Given the description of an element on the screen output the (x, y) to click on. 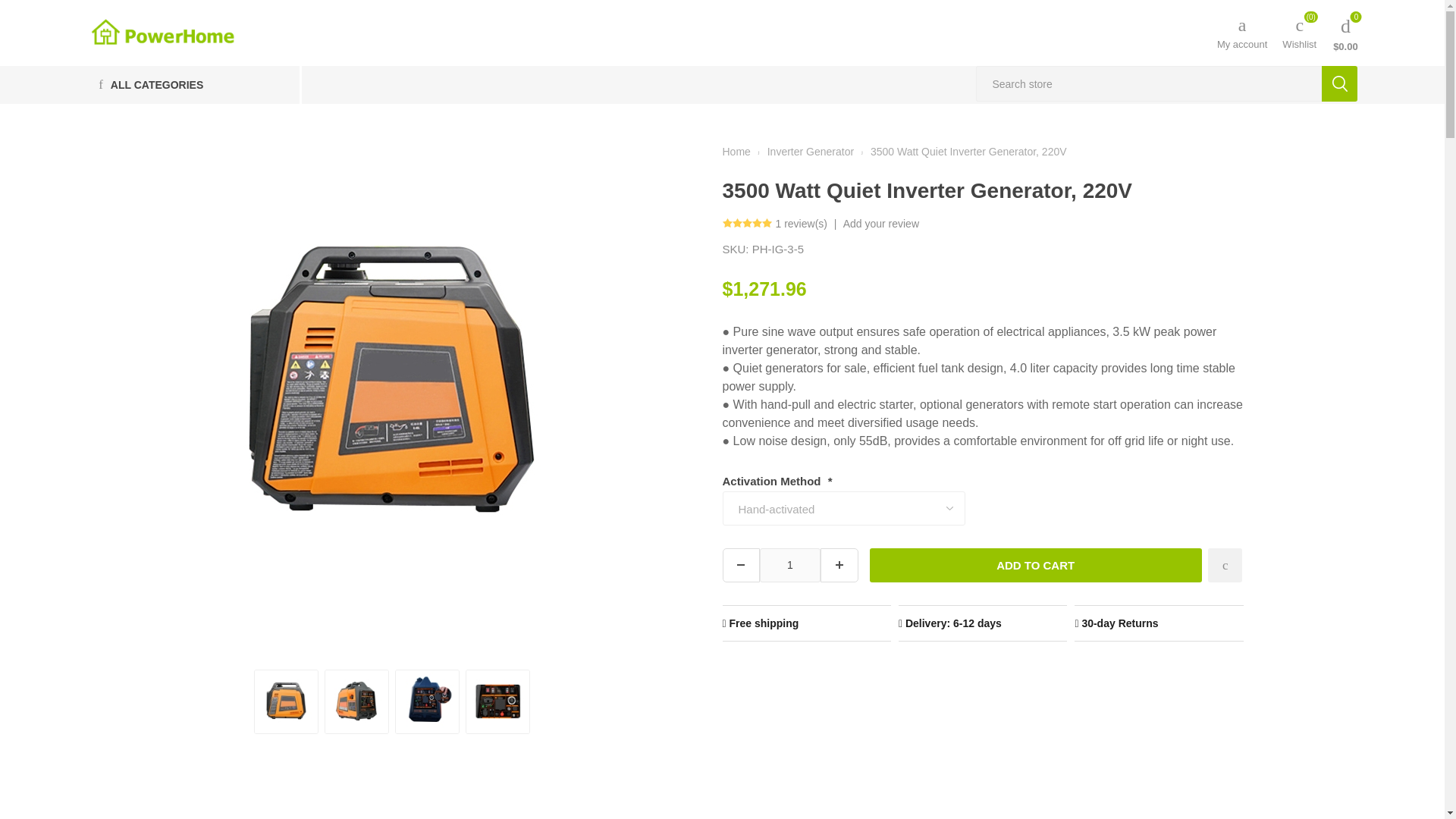
Picture of 3500 Watt Quiet Inverter Generator, 220V (356, 701)
Picture of 3500 Watt Quiet Inverter Generator, 220V (285, 701)
Picture of 3500 Watt Quiet Inverter Generator, 220V (427, 701)
My account (1241, 32)
PowerHome.com (162, 32)
Picture of 3500 Watt Quiet Inverter Generator, 220V (497, 701)
1 (790, 564)
